Given the description of an element on the screen output the (x, y) to click on. 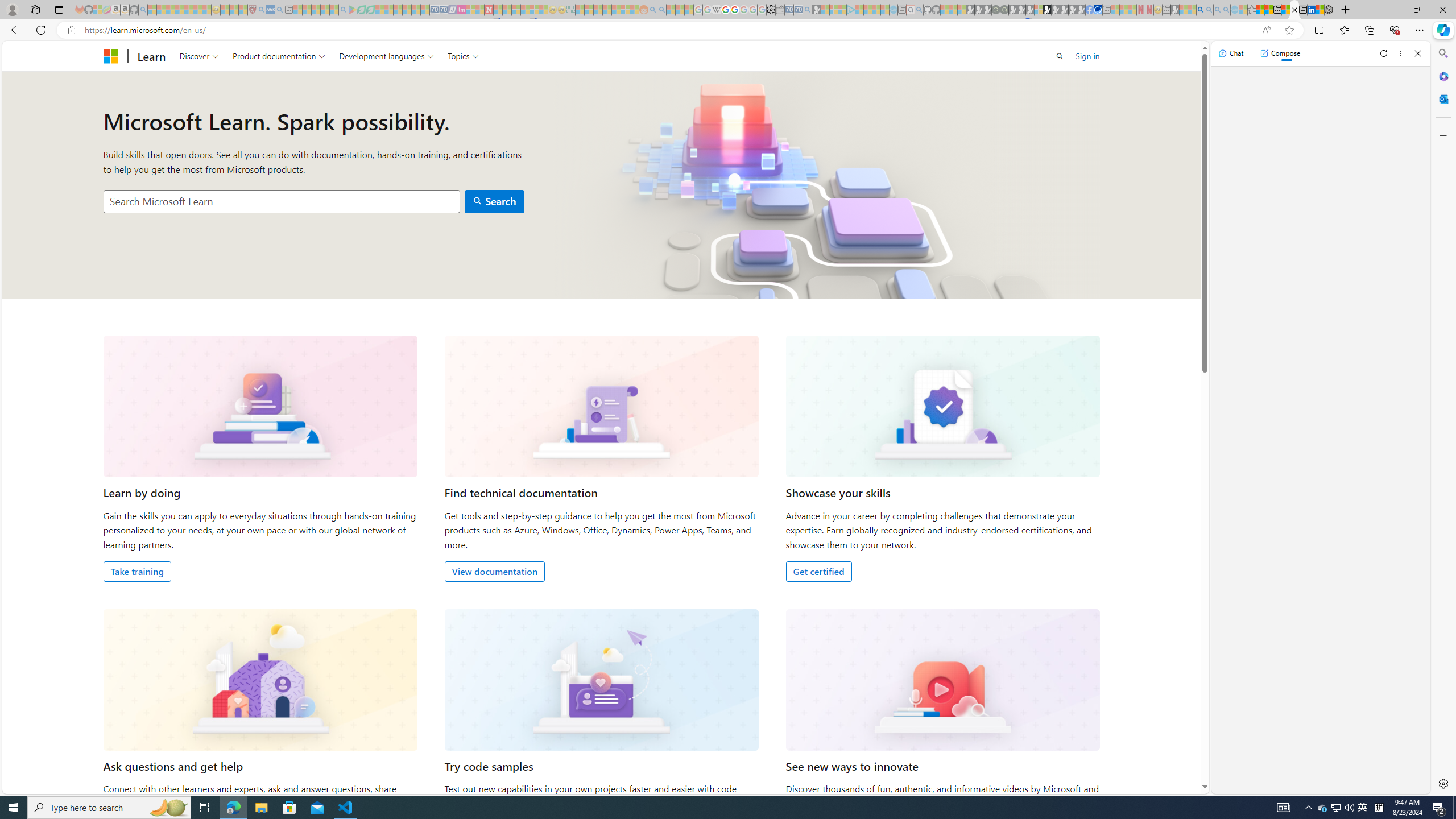
Privacy Help Center - Policies Help (725, 9)
Aberdeen, Hong Kong SAR weather forecast | Microsoft Weather (1268, 9)
Topics (462, 55)
Future Focus Report 2024 - Sleeping (1004, 9)
